Given the description of an element on the screen output the (x, y) to click on. 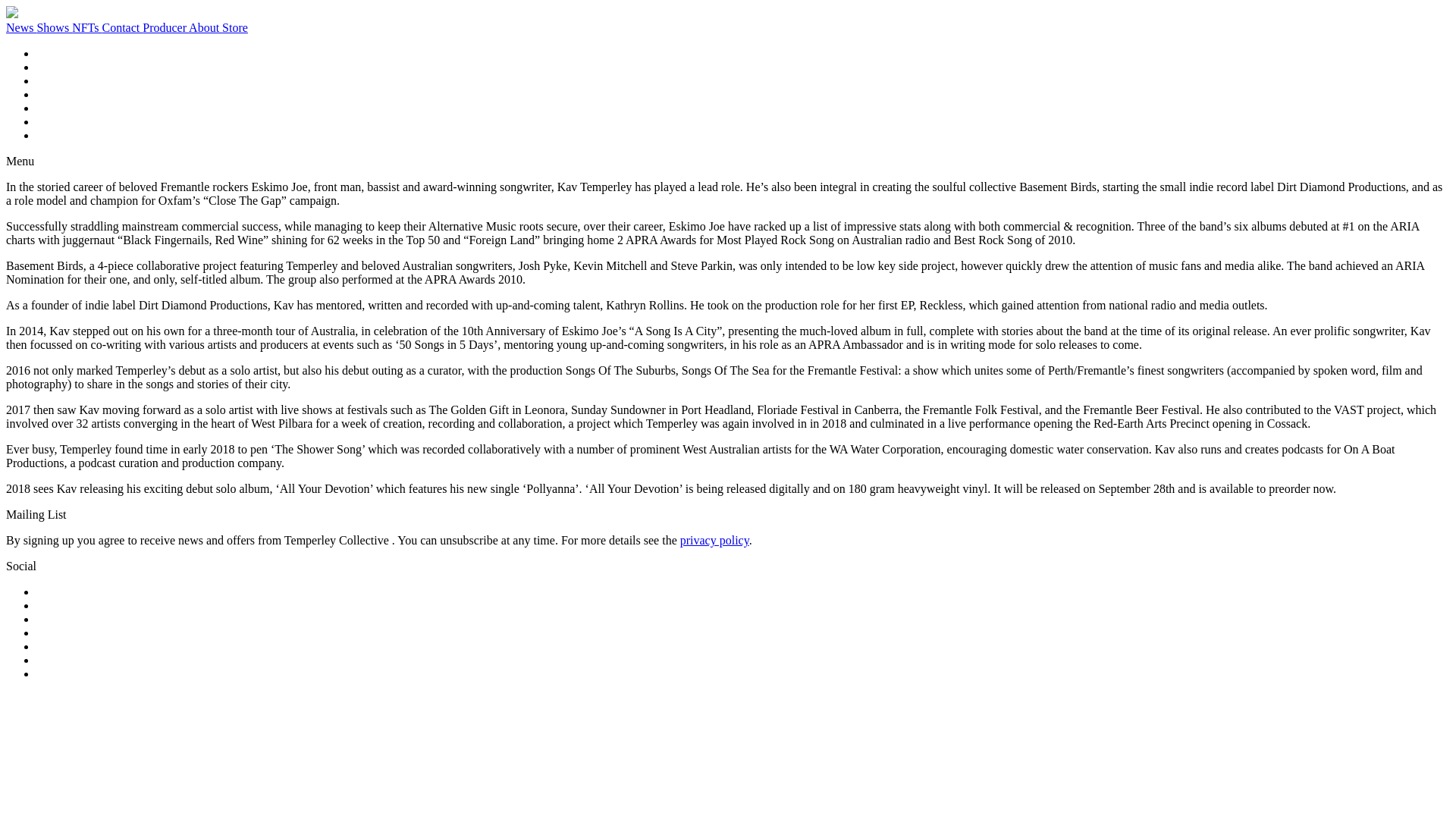
News Element type: text (21, 27)
About Element type: text (205, 27)
Producer Element type: text (165, 27)
Kav Temperley Element type: hover (12, 13)
Shows Element type: text (54, 27)
NFTs Element type: text (86, 27)
Menu Element type: text (20, 160)
privacy policy Element type: text (714, 539)
Contact Element type: text (121, 27)
Store Element type: text (234, 27)
